Given the description of an element on the screen output the (x, y) to click on. 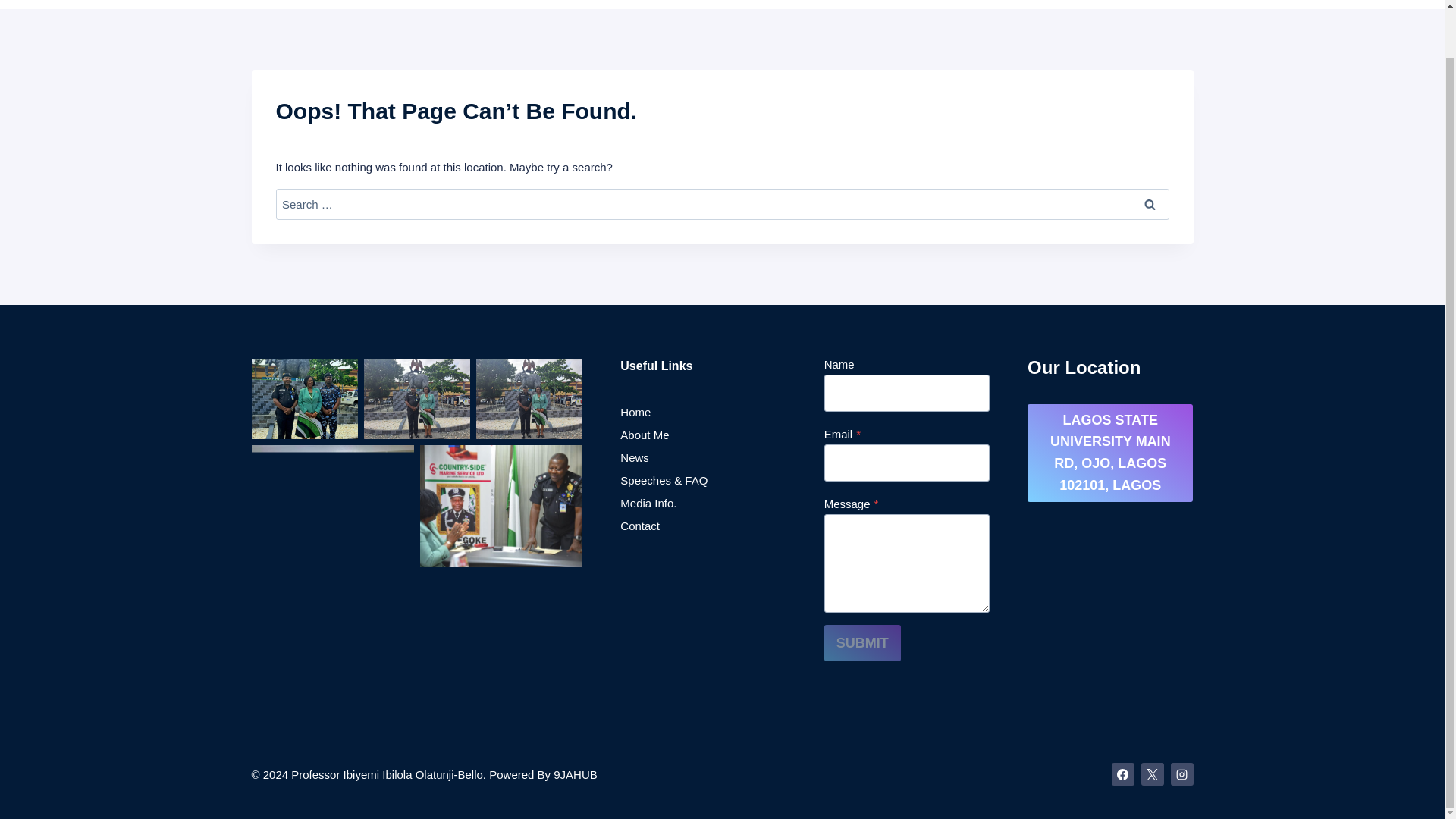
Search (1150, 203)
Search (1150, 203)
Home (703, 411)
Search (1150, 203)
SUBMIT (862, 642)
LAGOS STATE UNIVERSITY MAIN RD, OJO, LAGOS 102101, LAGOS (1109, 452)
Contact (703, 525)
News (703, 456)
Media Info. (703, 502)
About Me (703, 434)
